Given the description of an element on the screen output the (x, y) to click on. 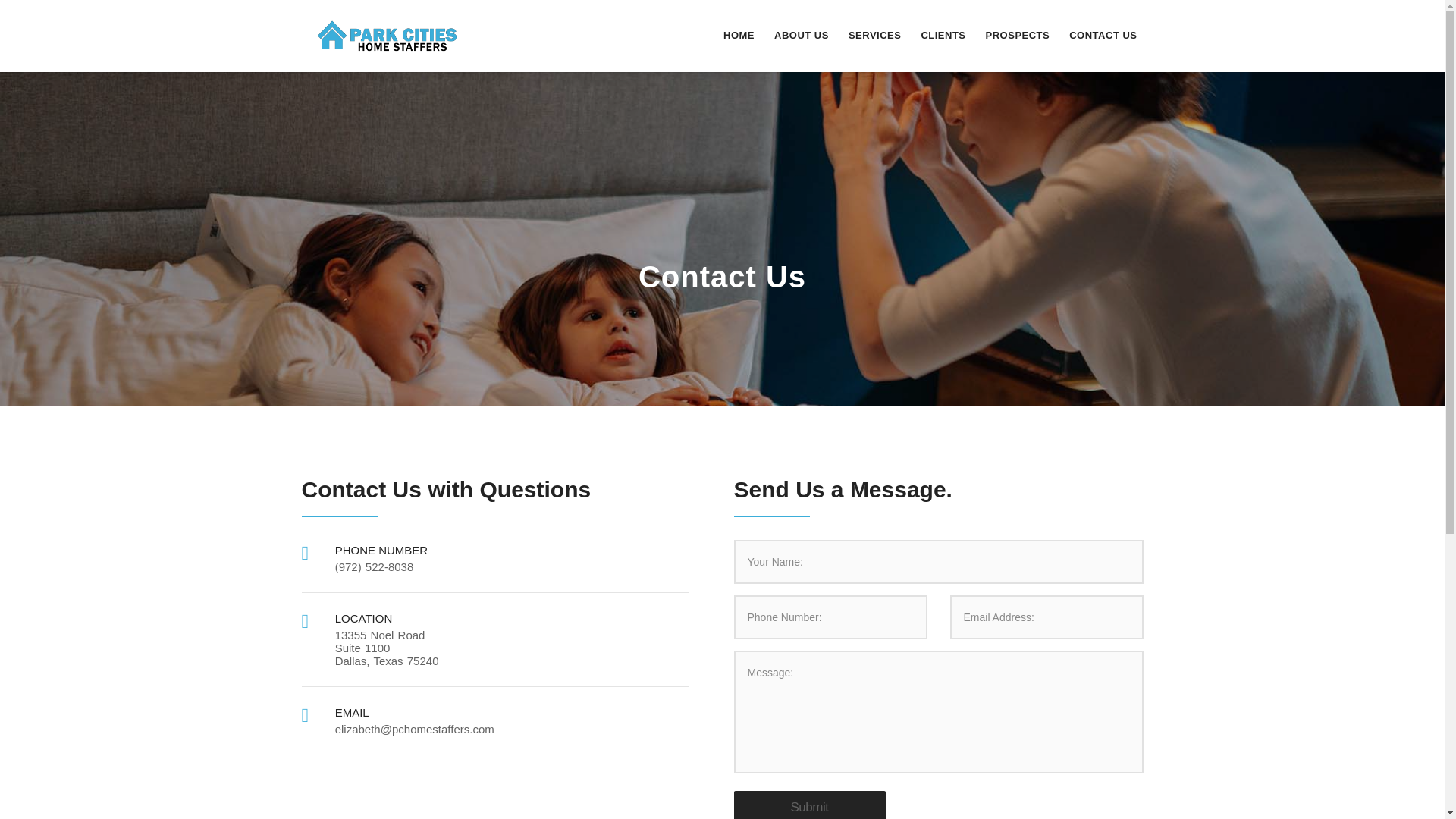
PROSPECTS (1018, 35)
CLIENTS (942, 35)
SERVICES (875, 35)
CONTACT US (1102, 35)
Submit (809, 805)
ABOUT US (801, 35)
